Given the description of an element on the screen output the (x, y) to click on. 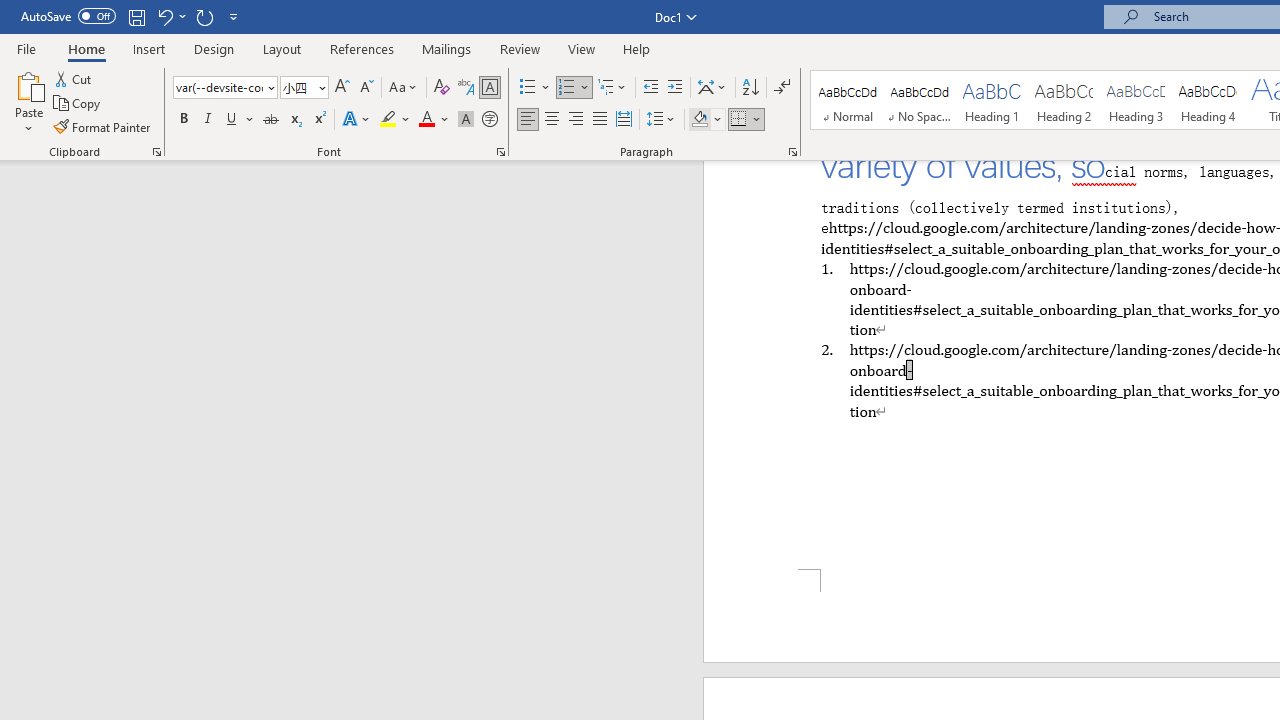
Cut (73, 78)
Superscript (319, 119)
Format Painter (103, 126)
Office Clipboard... (156, 151)
Align Left (527, 119)
Change Case (404, 87)
Font Color (434, 119)
Clear Formatting (442, 87)
